Given the description of an element on the screen output the (x, y) to click on. 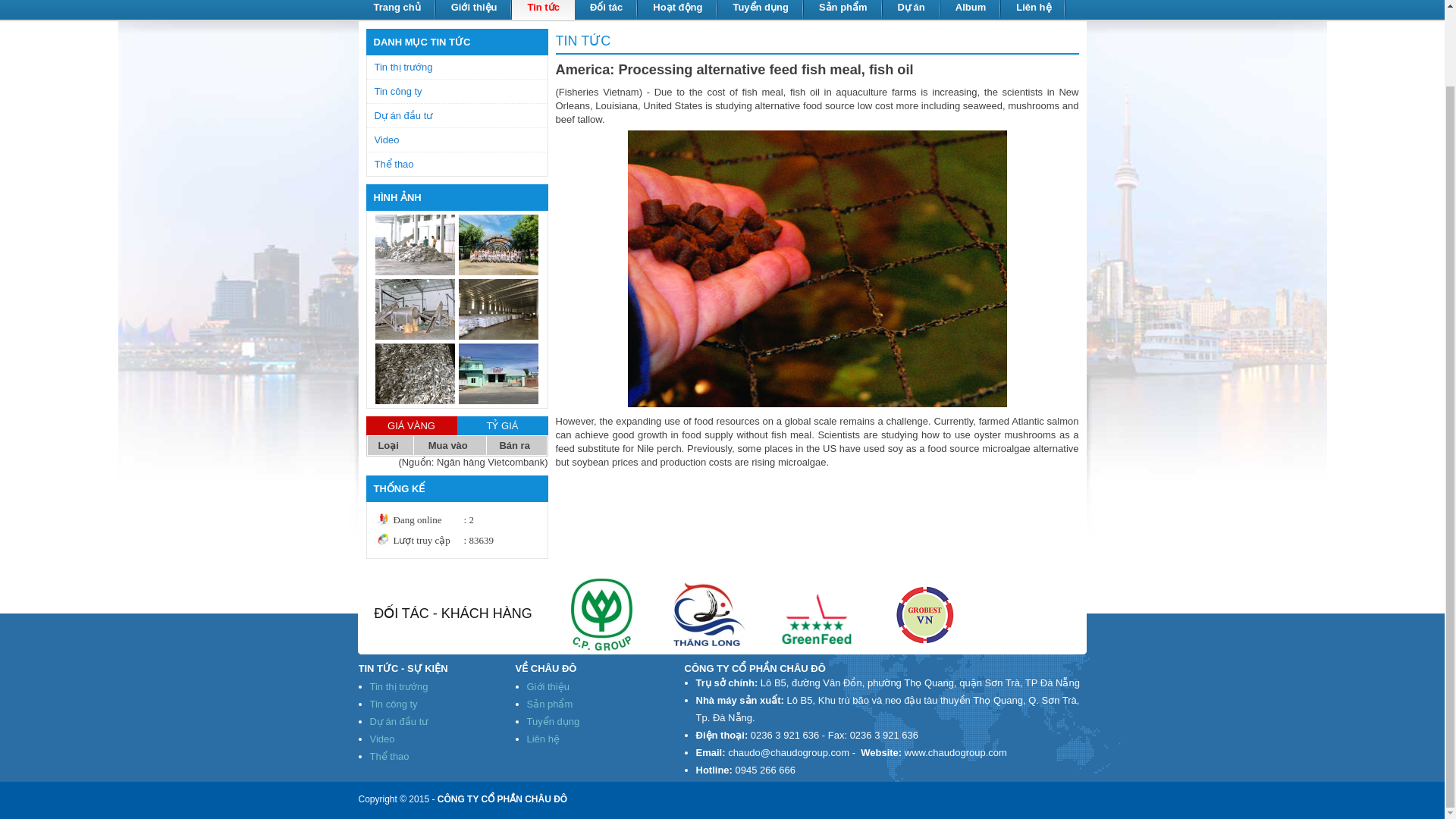
Album (970, 10)
